Given the description of an element on the screen output the (x, y) to click on. 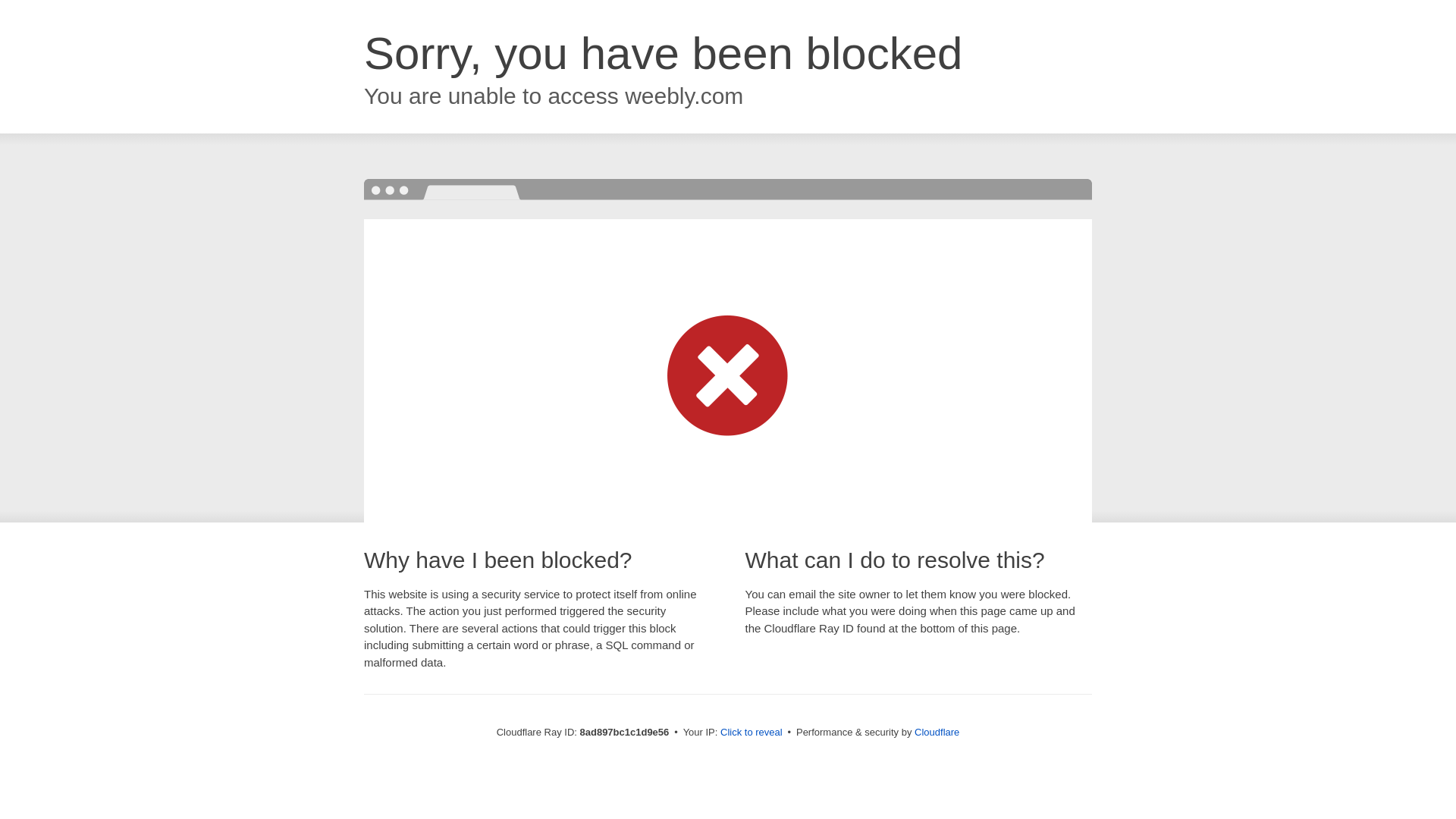
Click to reveal (751, 732)
Cloudflare (936, 731)
